Given the description of an element on the screen output the (x, y) to click on. 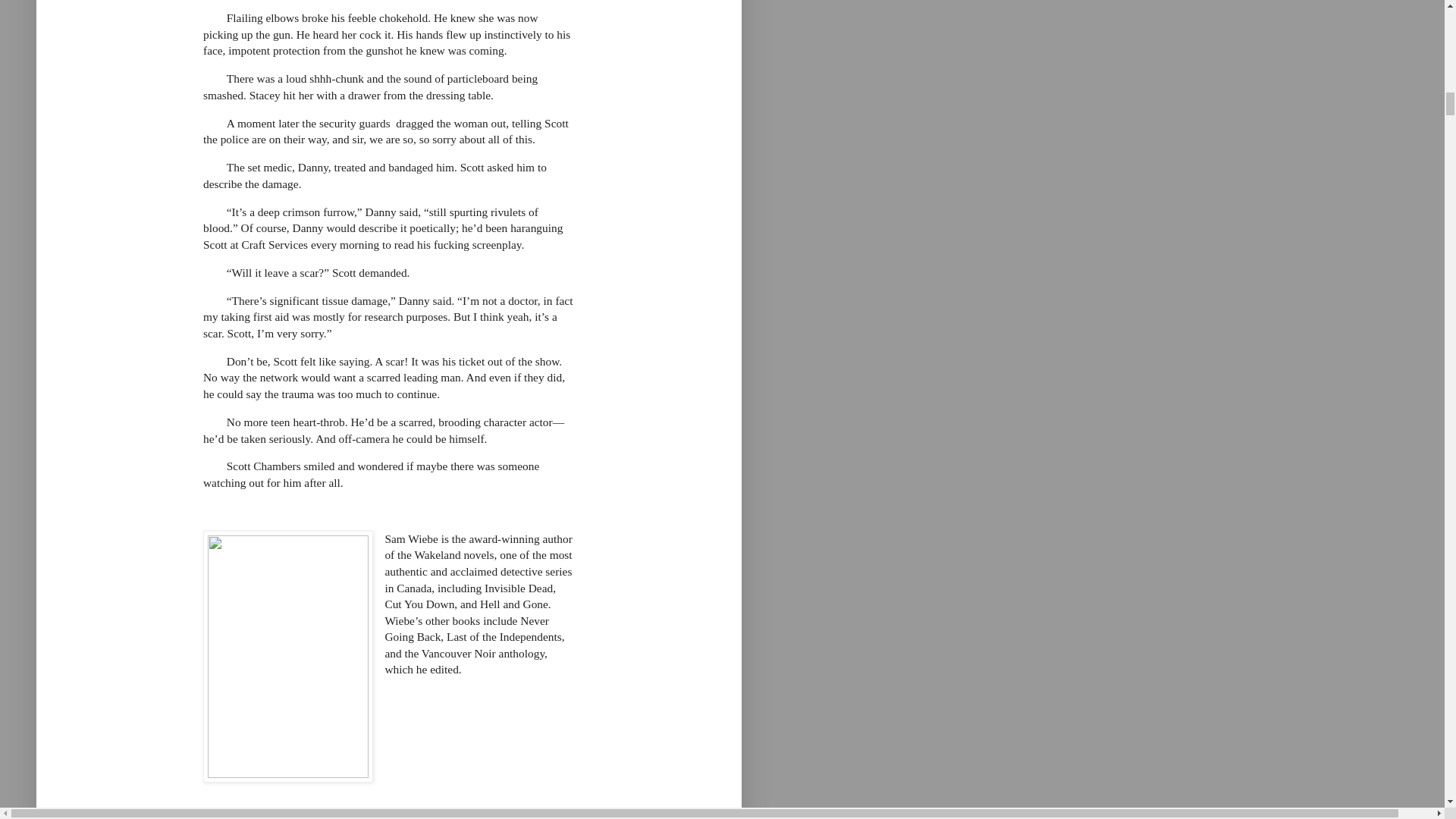
1 comment: (341, 818)
